Given the description of an element on the screen output the (x, y) to click on. 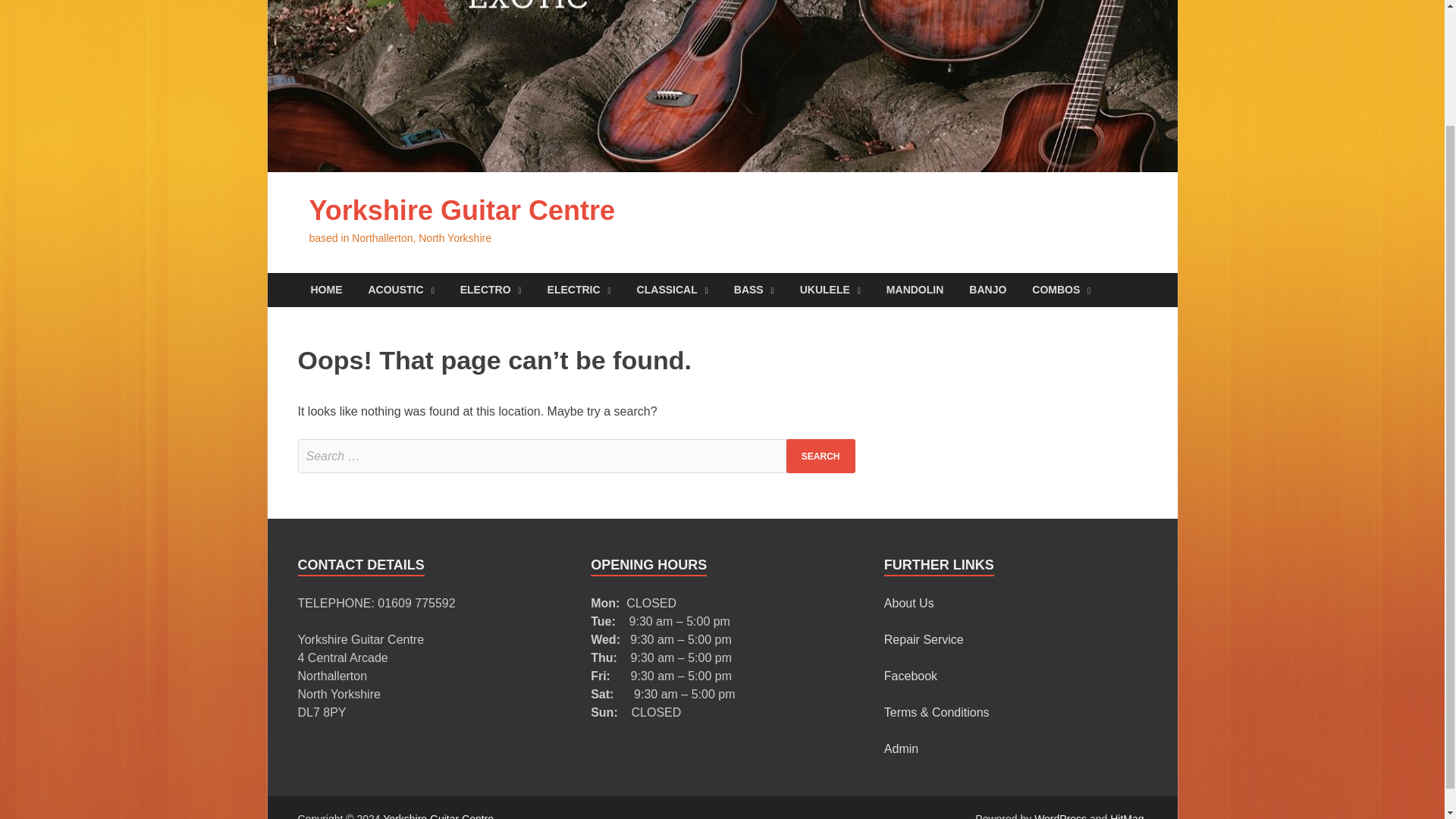
Search (821, 455)
ACOUSTIC (400, 289)
HOME (326, 289)
ELECTRO (490, 289)
ELECTRIC (579, 289)
Combos (1061, 289)
Yorkshire Guitar Centre (461, 210)
Search (821, 455)
